Given the description of an element on the screen output the (x, y) to click on. 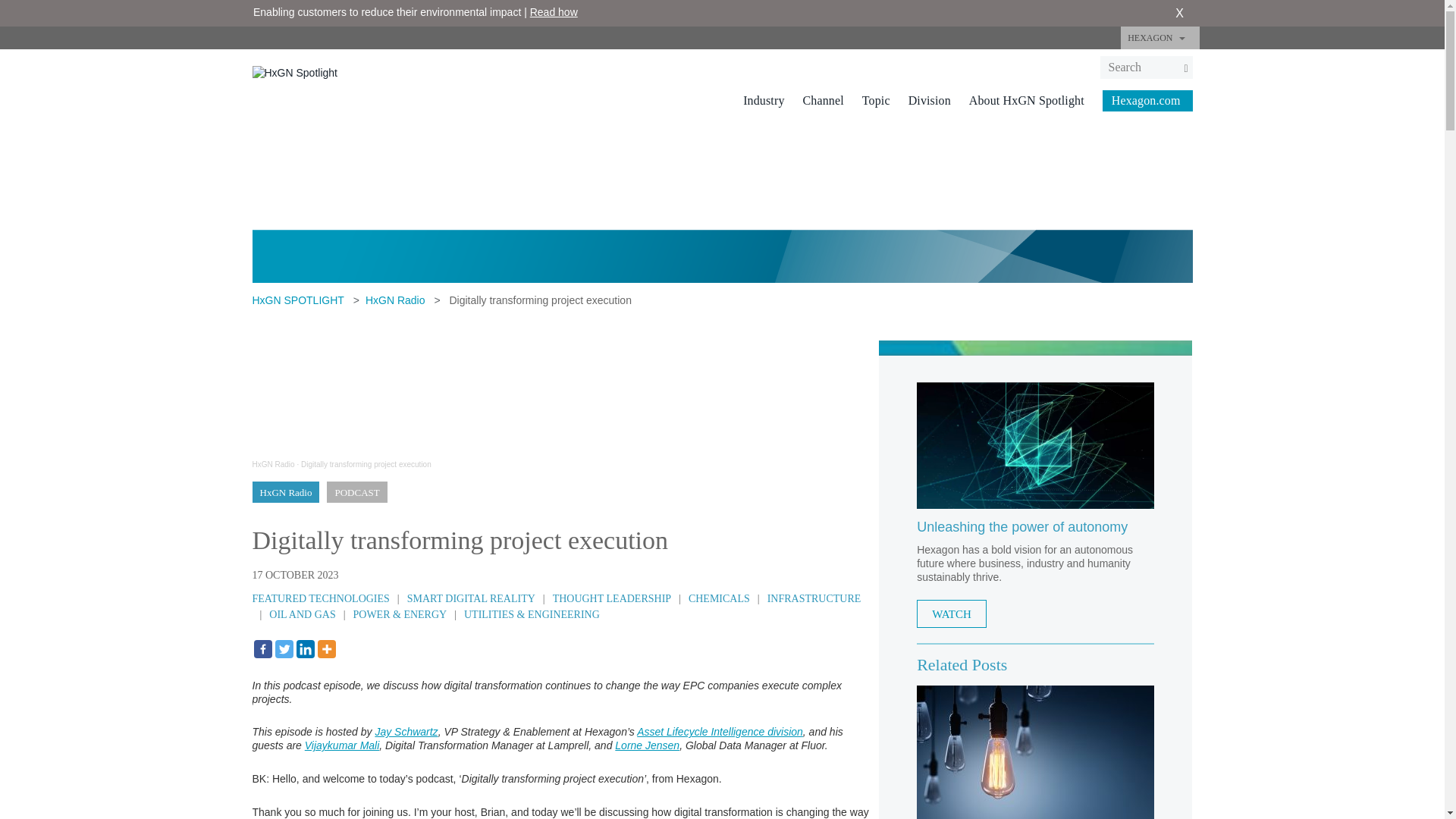
Digitally transforming project execution (365, 463)
Twitter (283, 648)
HxGN Radio (272, 463)
HxGN Spotlight (293, 71)
More (325, 648)
HEXAGON (1159, 37)
Facebook (261, 648)
X (1178, 13)
Hexagon leadership series (1035, 752)
Read how (553, 11)
Linkedin (304, 648)
